Given the description of an element on the screen output the (x, y) to click on. 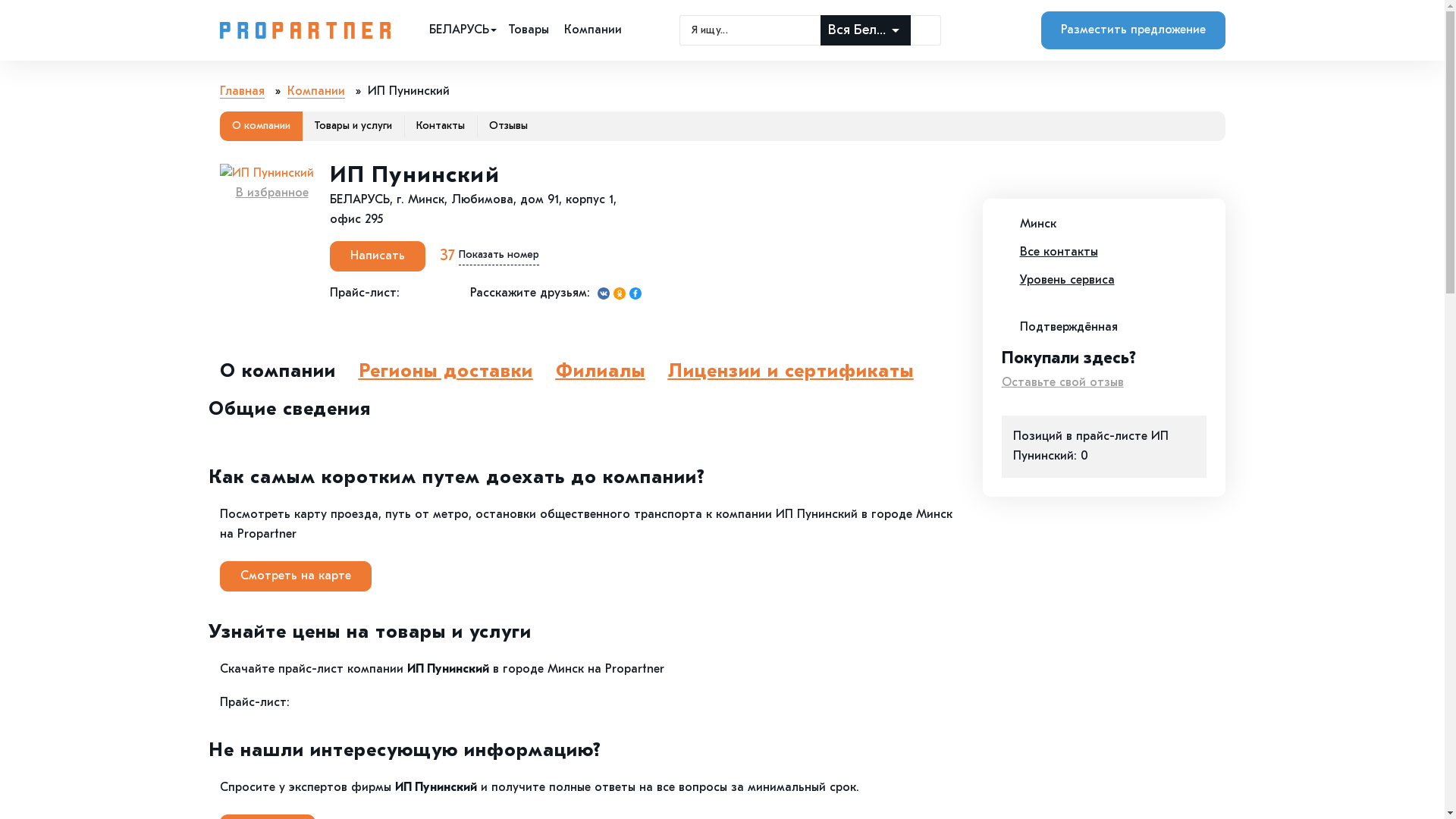
Odnoklassniki Element type: hover (618, 293)
Excel Element type: hover (303, 702)
Pdf Element type: hover (318, 702)
Pdf Element type: hover (429, 293)
Facebook Element type: hover (635, 293)
Excel Element type: hover (412, 293)
Vk Element type: hover (603, 293)
37 Element type: text (446, 255)
